Given the description of an element on the screen output the (x, y) to click on. 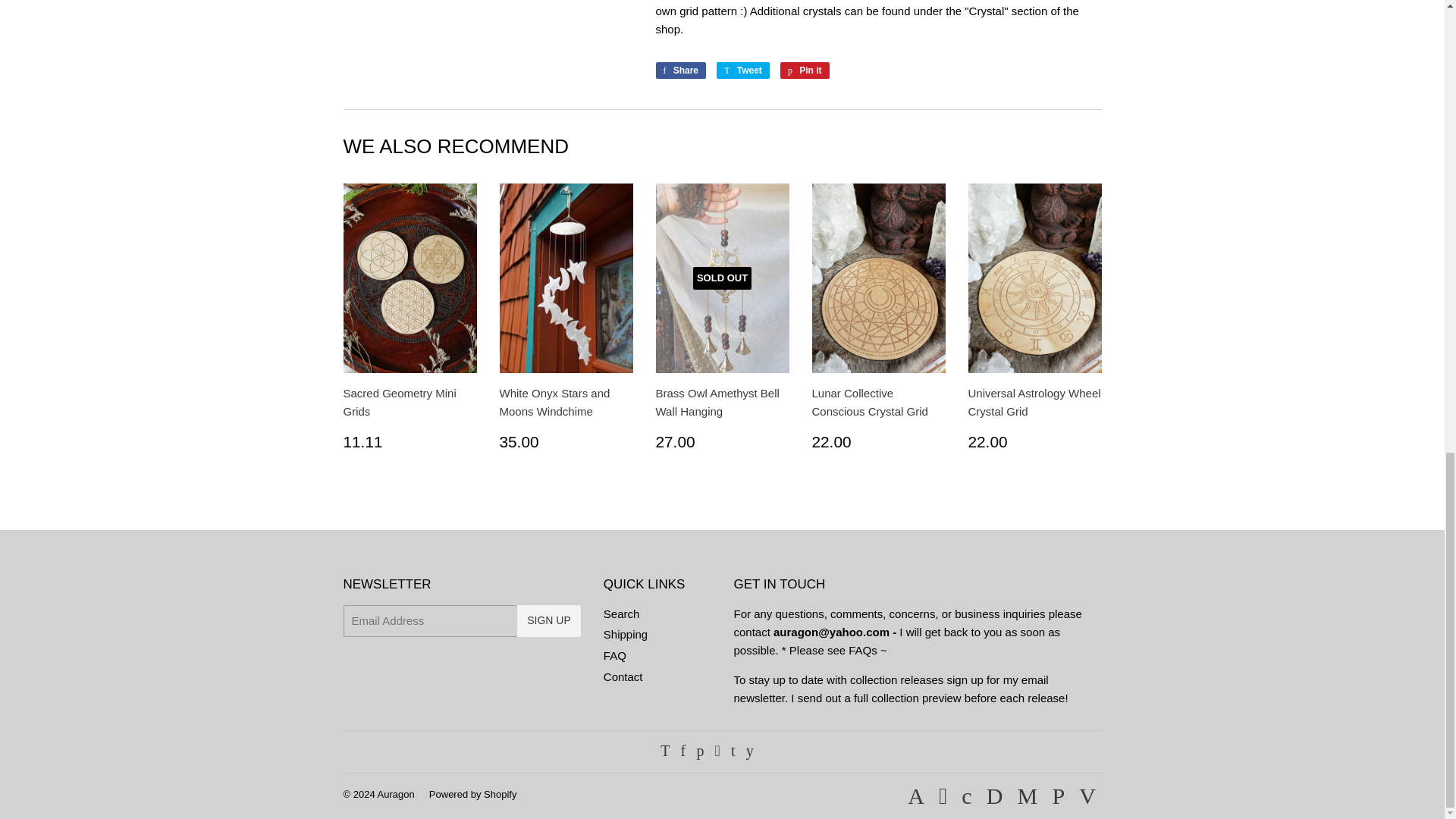
Share on Facebook (680, 70)
Pin on Pinterest (804, 70)
Search (680, 70)
Auragon (804, 70)
FAQ (622, 613)
Contact (395, 794)
Shipping (615, 655)
Tweet on Twitter (623, 676)
SIGN UP (625, 634)
